Given the description of an element on the screen output the (x, y) to click on. 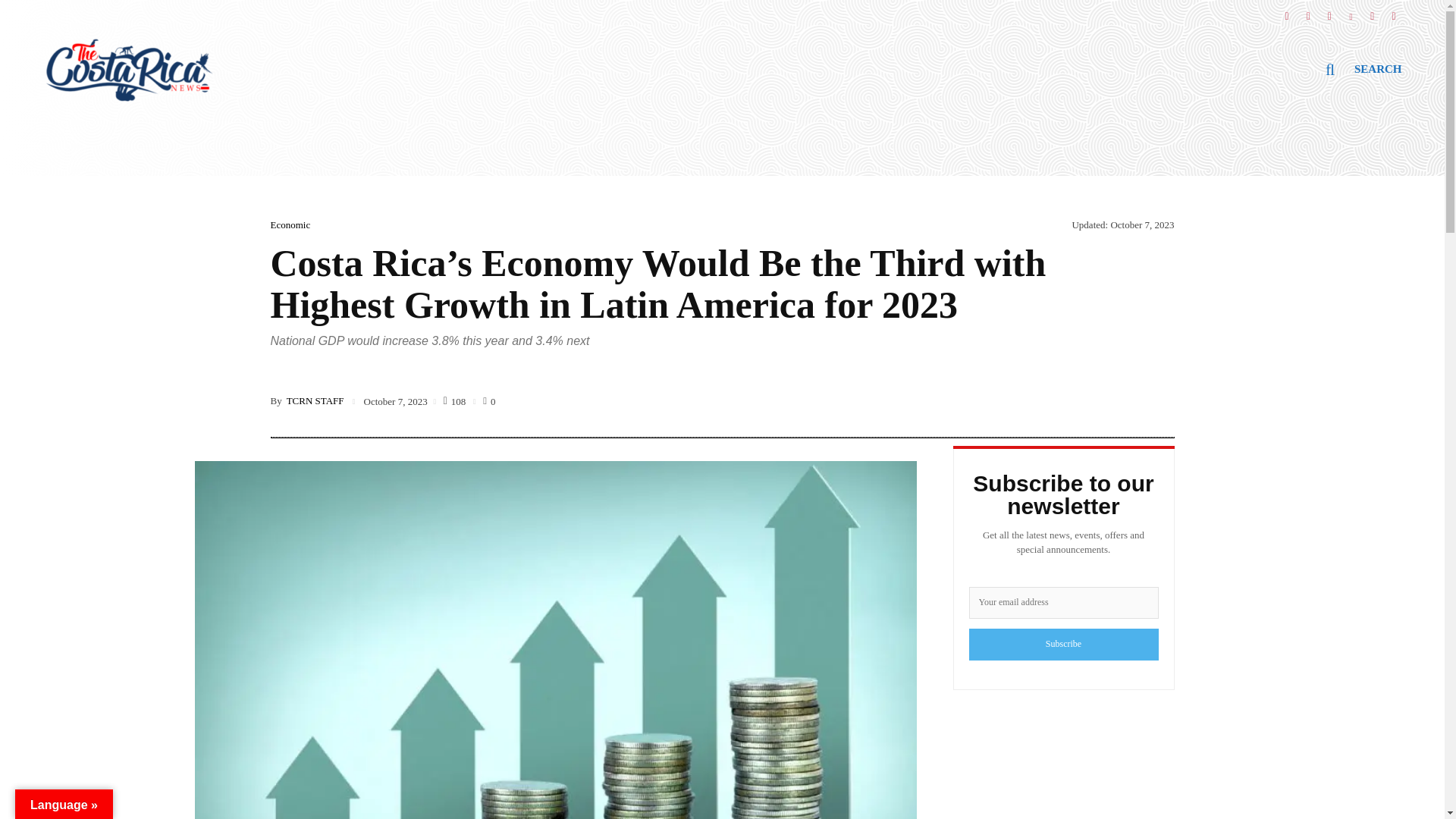
Paypal (1393, 11)
YouTube (1371, 11)
Twitter (1329, 11)
LinkedIn (1350, 11)
Facebook (1286, 11)
Instagram (1307, 11)
